Given the description of an element on the screen output the (x, y) to click on. 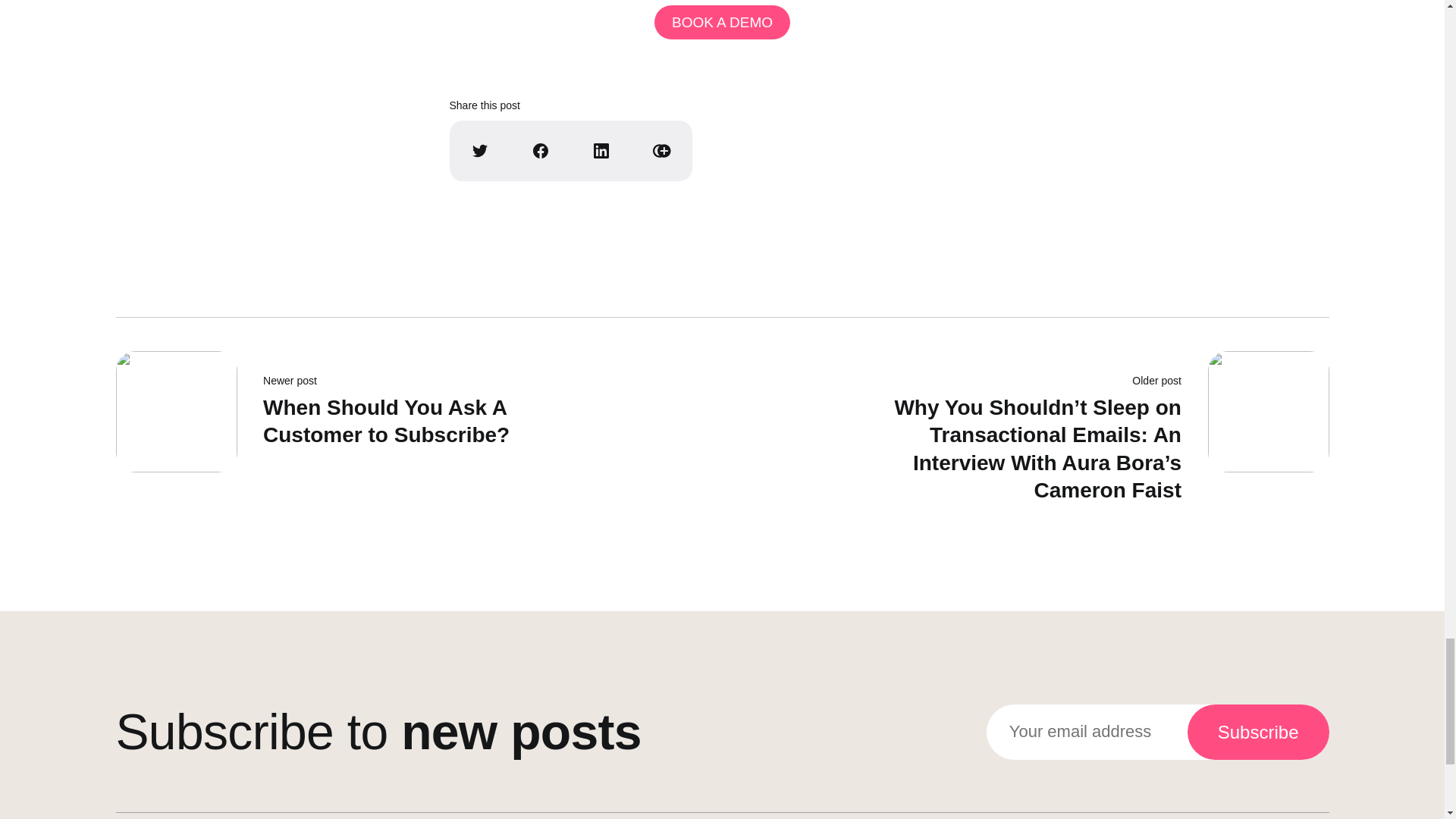
Subscribe (357, 432)
BOOK A DEMO (1258, 732)
